Given the description of an element on the screen output the (x, y) to click on. 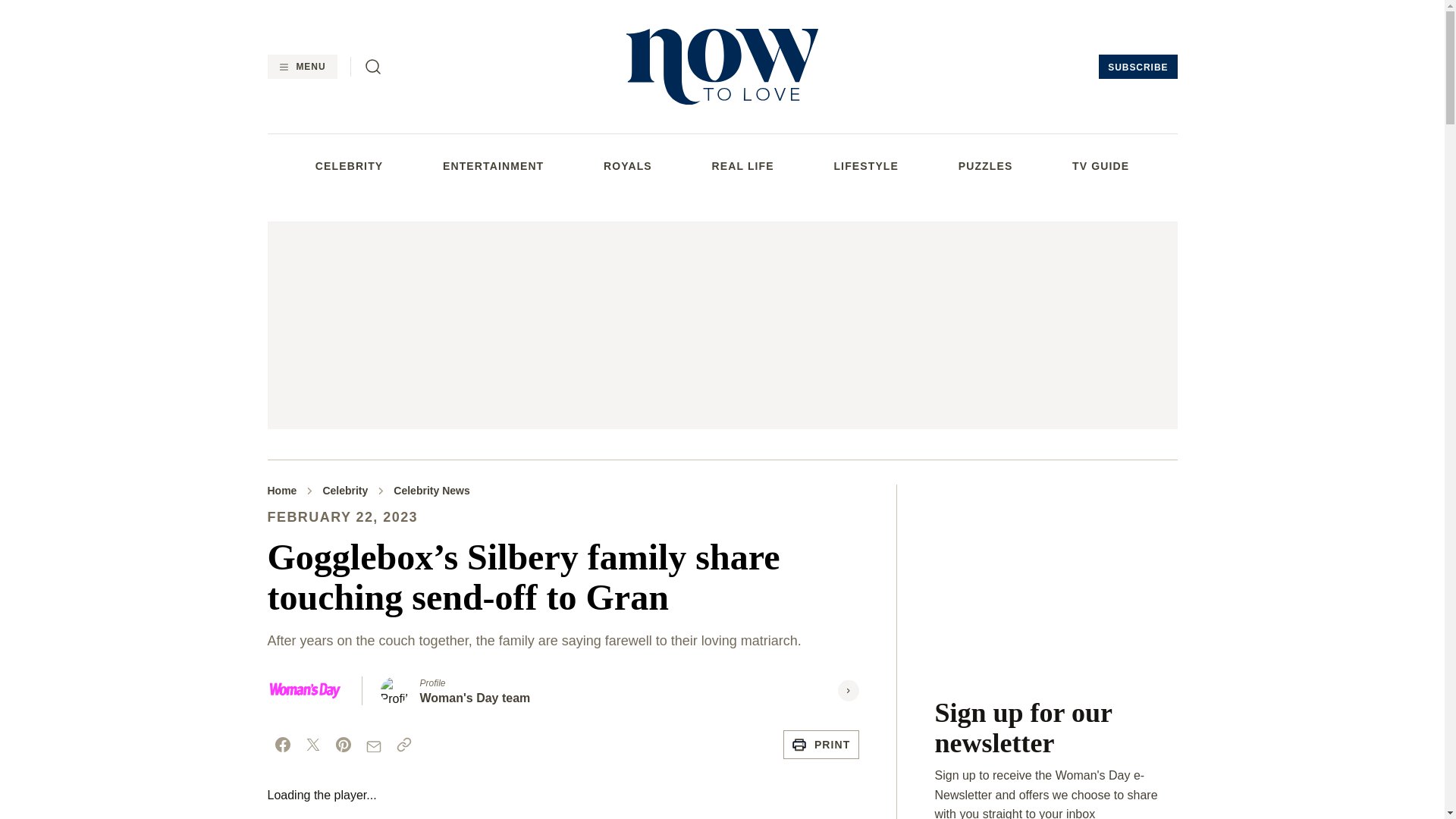
CELEBRITY (348, 165)
REAL LIFE (742, 165)
SUBSCRIBE (1137, 66)
LIFESTYLE (865, 165)
TV GUIDE (1100, 165)
ENTERTAINMENT (492, 165)
MENU (301, 66)
PUZZLES (985, 165)
ROYALS (628, 165)
